Given the description of an element on the screen output the (x, y) to click on. 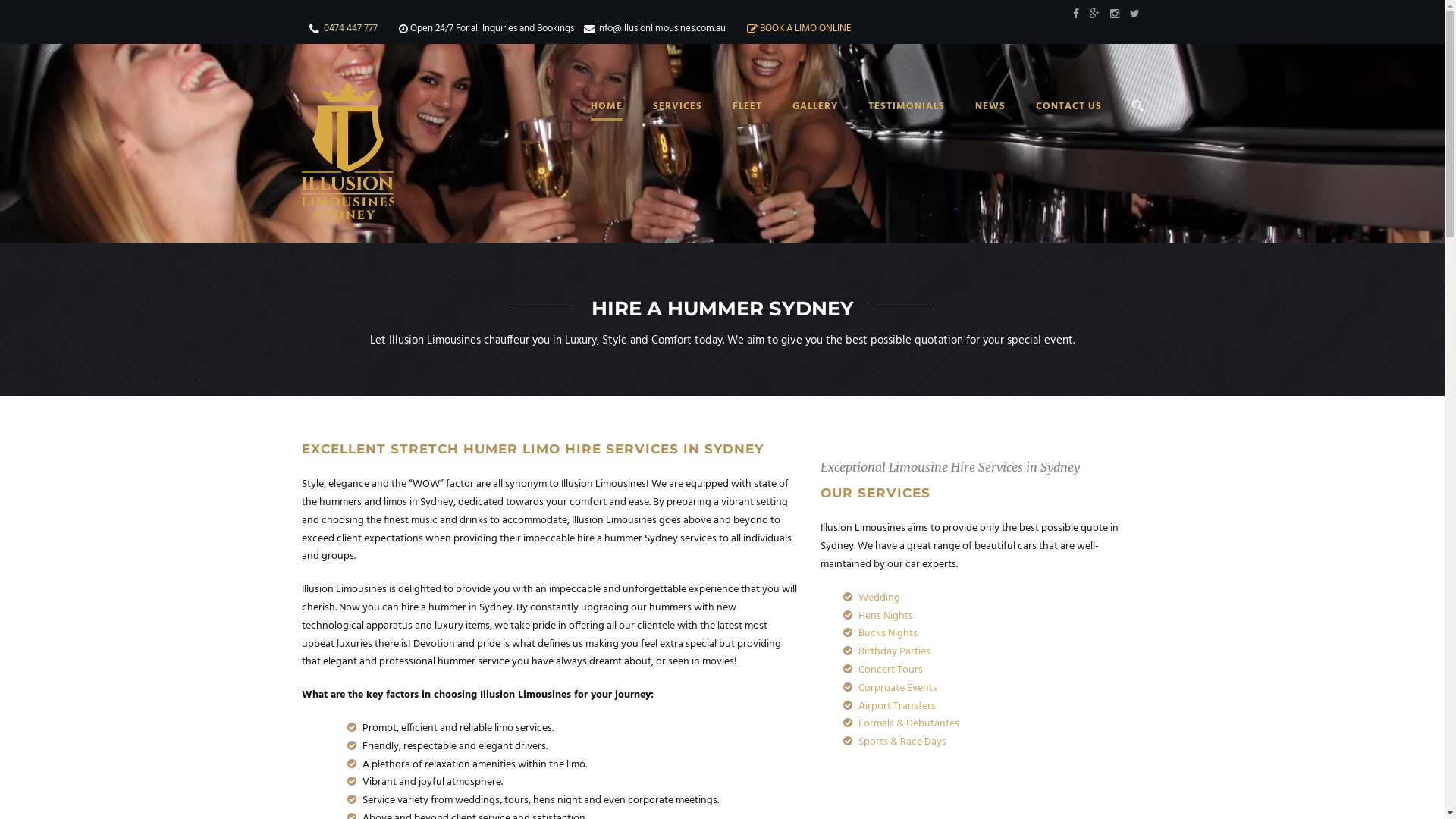
Corproate Events Element type: text (897, 687)
Concert Tours Element type: text (890, 669)
GALLERY Element type: text (799, 123)
Sports & Race Days Element type: text (902, 741)
SERVICES Element type: text (661, 123)
BOOK A LIMO ONLINE Element type: text (805, 28)
Wedding Element type: text (879, 597)
Formals & Debutantes Element type: text (908, 723)
Bucks Nights Element type: text (887, 633)
info@illusionlimousines.com.au Element type: text (660, 28)
FLEET Element type: text (732, 123)
0474 447 777  Element type: text (350, 28)
NEWS Element type: text (974, 123)
Airport Transfers Element type: text (896, 706)
Hens Nights Element type: text (885, 615)
HOME Element type: text (605, 123)
TESTIMONIALS Element type: text (890, 123)
Birthday Parties Element type: text (894, 651)
CONTACT US Element type: text (1053, 123)
